Given the description of an element on the screen output the (x, y) to click on. 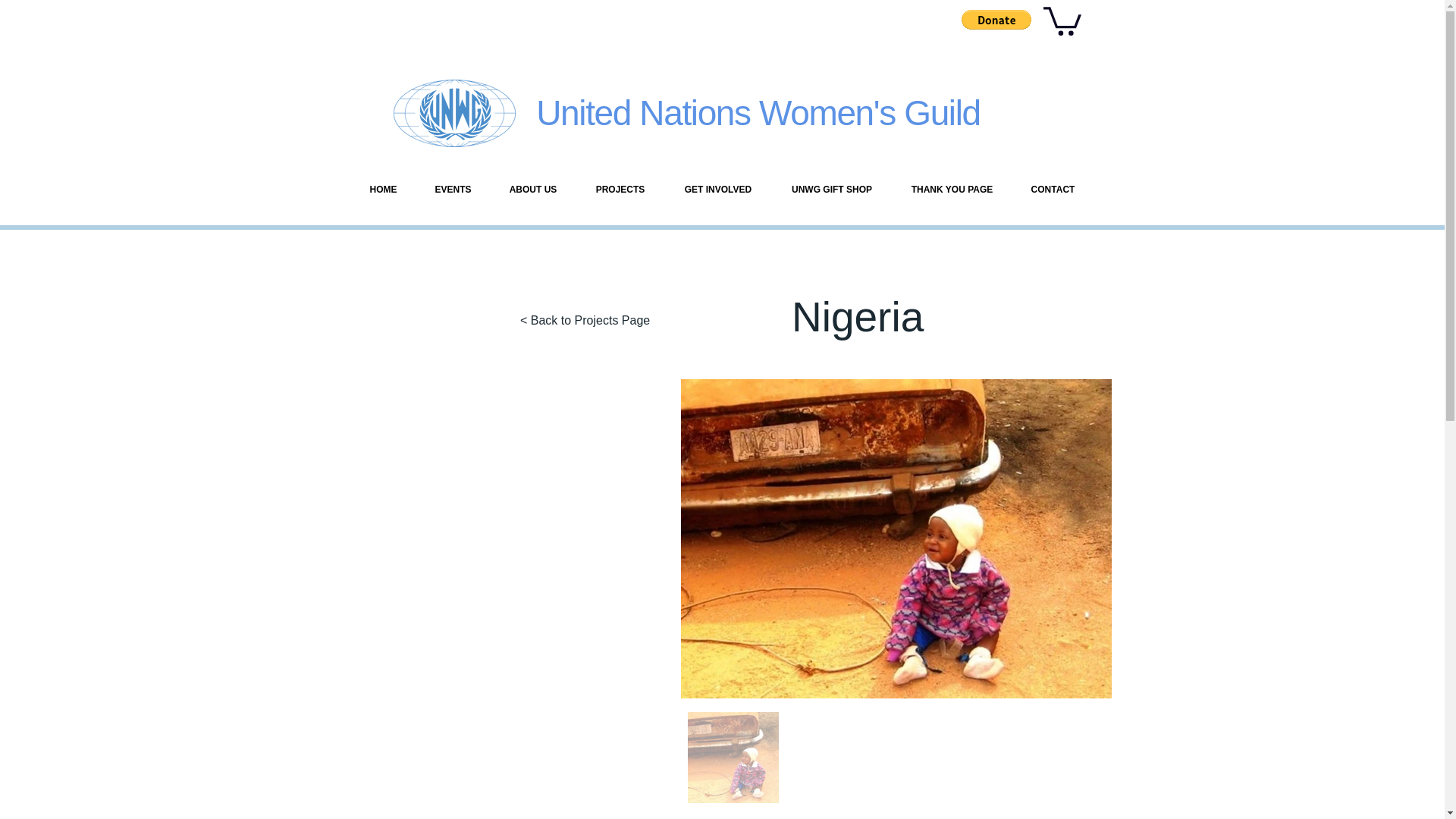
GET INVOLVED (717, 189)
EVENTS (451, 189)
CONTACT (1052, 189)
PROJECTS (620, 189)
THANK YOU PAGE (951, 189)
HOME (382, 189)
United Nations Women's Guild (757, 112)
ABOUT US (532, 189)
UNWG GIFT SHOP (831, 189)
